Given the description of an element on the screen output the (x, y) to click on. 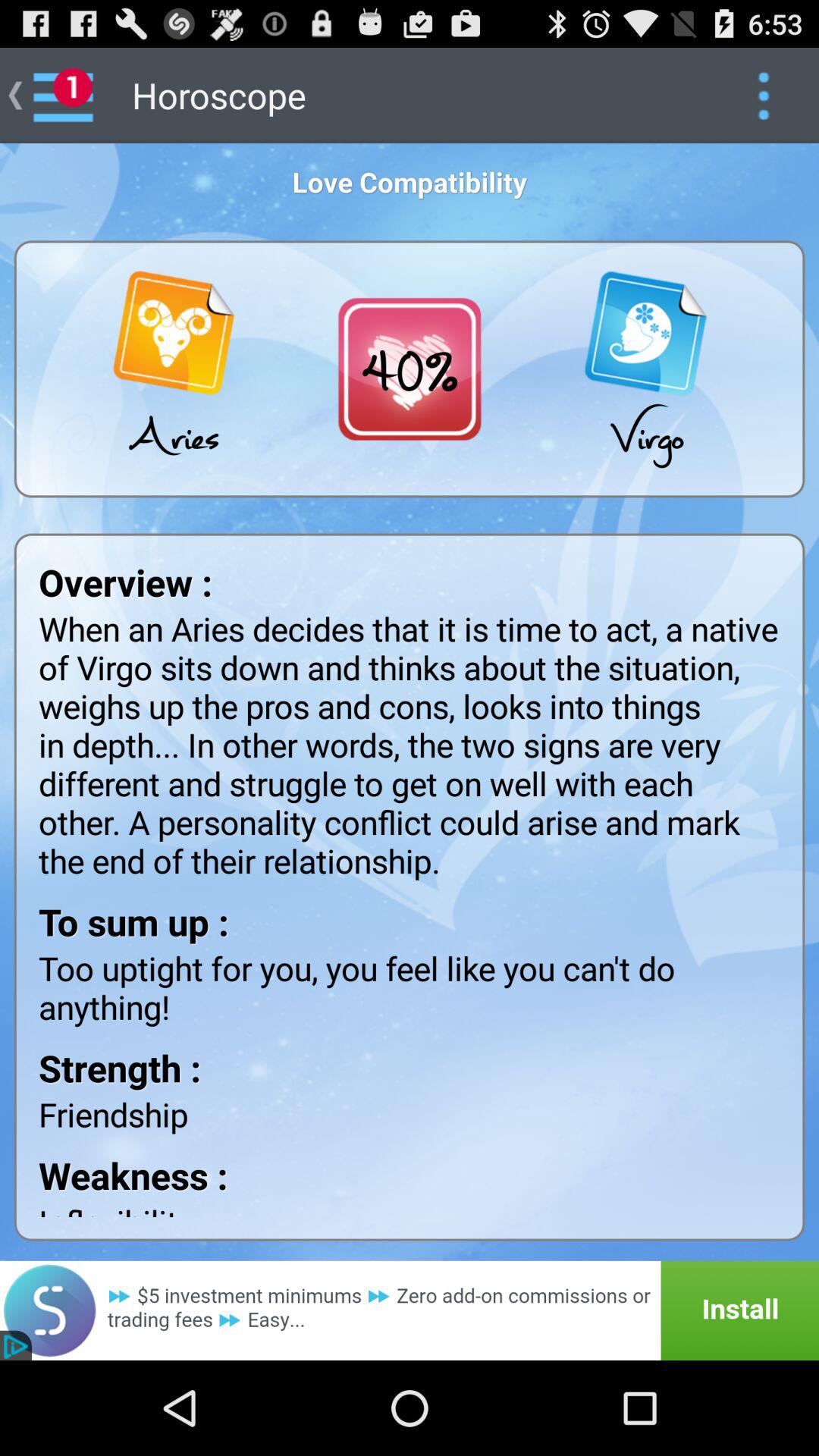
turn off item to the right of the horoscope app (763, 95)
